Given the description of an element on the screen output the (x, y) to click on. 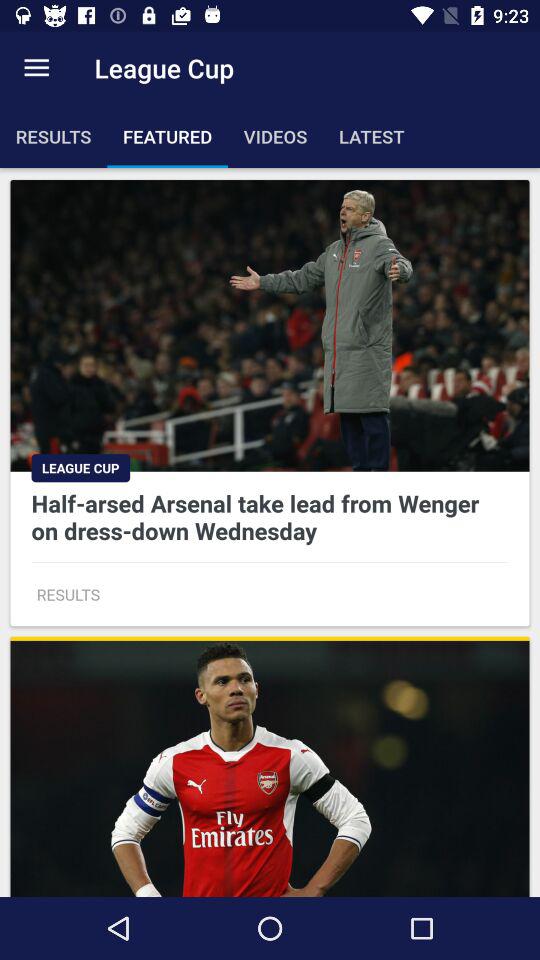
select item next to the league cup icon (36, 68)
